Given the description of an element on the screen output the (x, y) to click on. 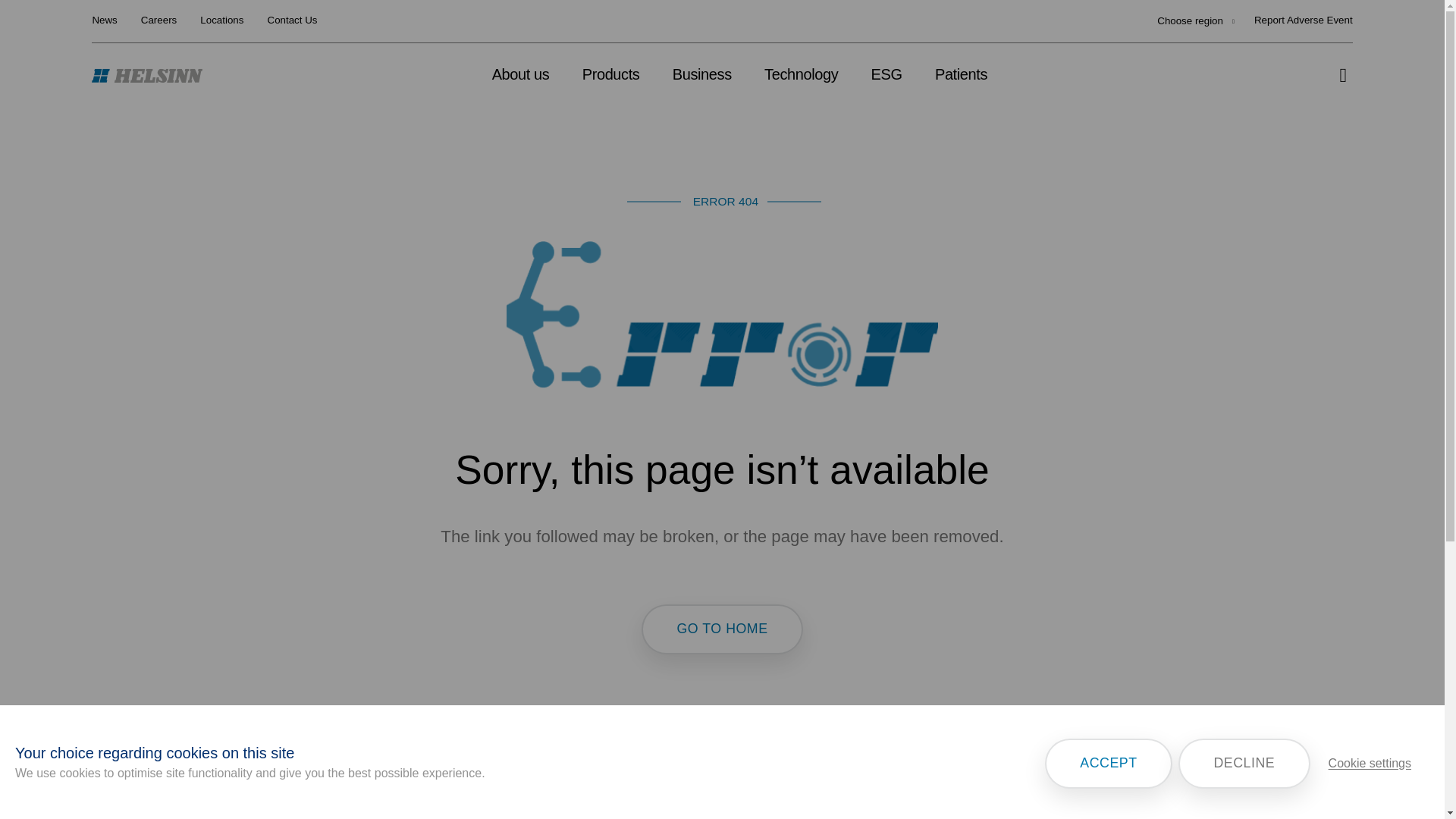
Locations (221, 21)
Contact Us (292, 21)
Report Adverse Event (1302, 21)
Choose region (1195, 21)
About us (520, 74)
Careers (158, 21)
Products (611, 74)
News (103, 21)
